Given the description of an element on the screen output the (x, y) to click on. 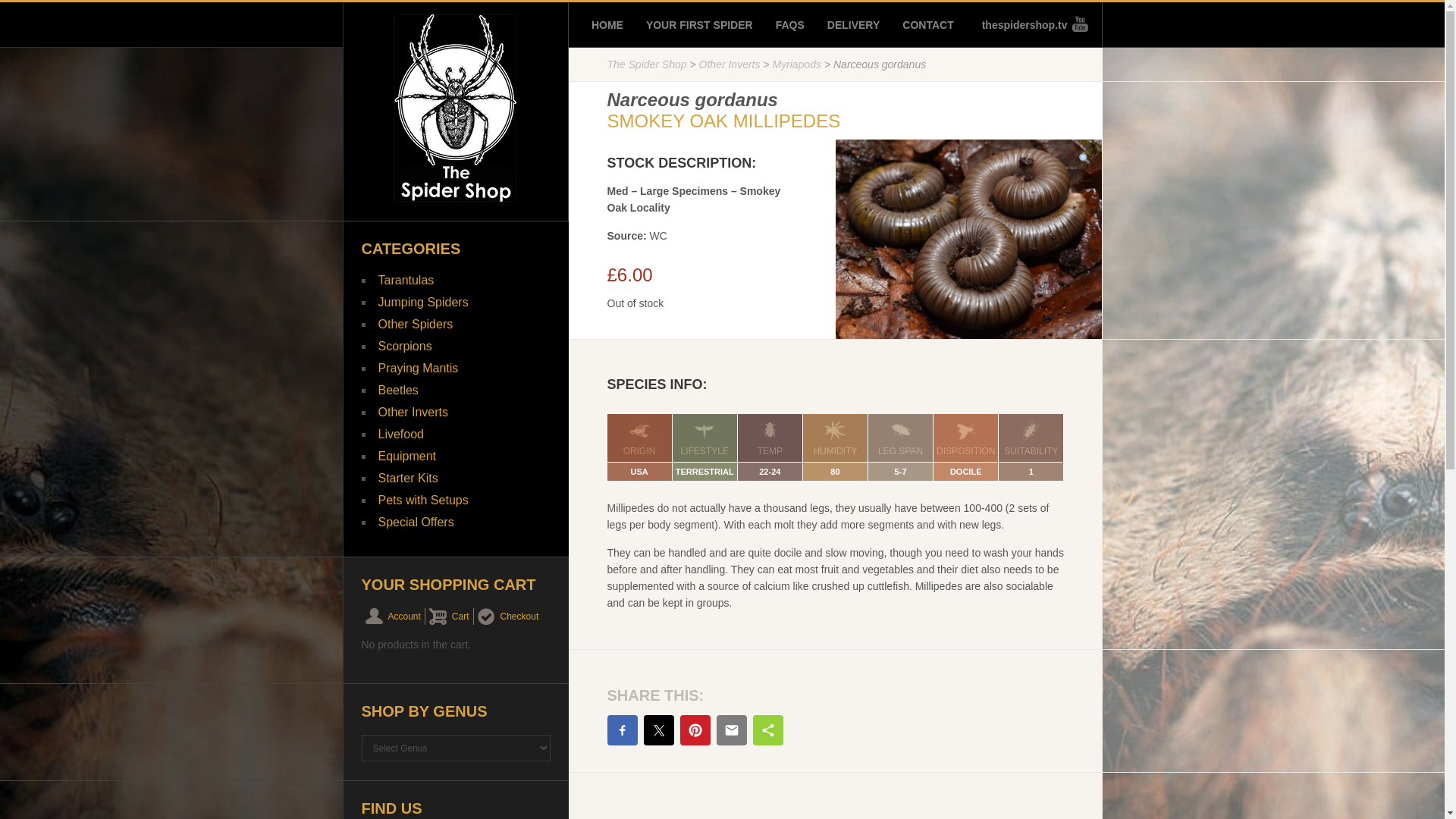
CONTACT (927, 24)
HOME (606, 24)
YOUR FIRST SPIDER (699, 24)
images (968, 239)
DELIVERY (853, 24)
Praying Mantis (417, 367)
FAQS (790, 24)
Other Spiders (414, 323)
Beetles (397, 390)
Other Inverts (729, 64)
The Spider Shop (646, 64)
Jumping Spiders (422, 301)
thespidershop.tv (1030, 24)
My Account (392, 616)
Myriapods (796, 64)
